Given the description of an element on the screen output the (x, y) to click on. 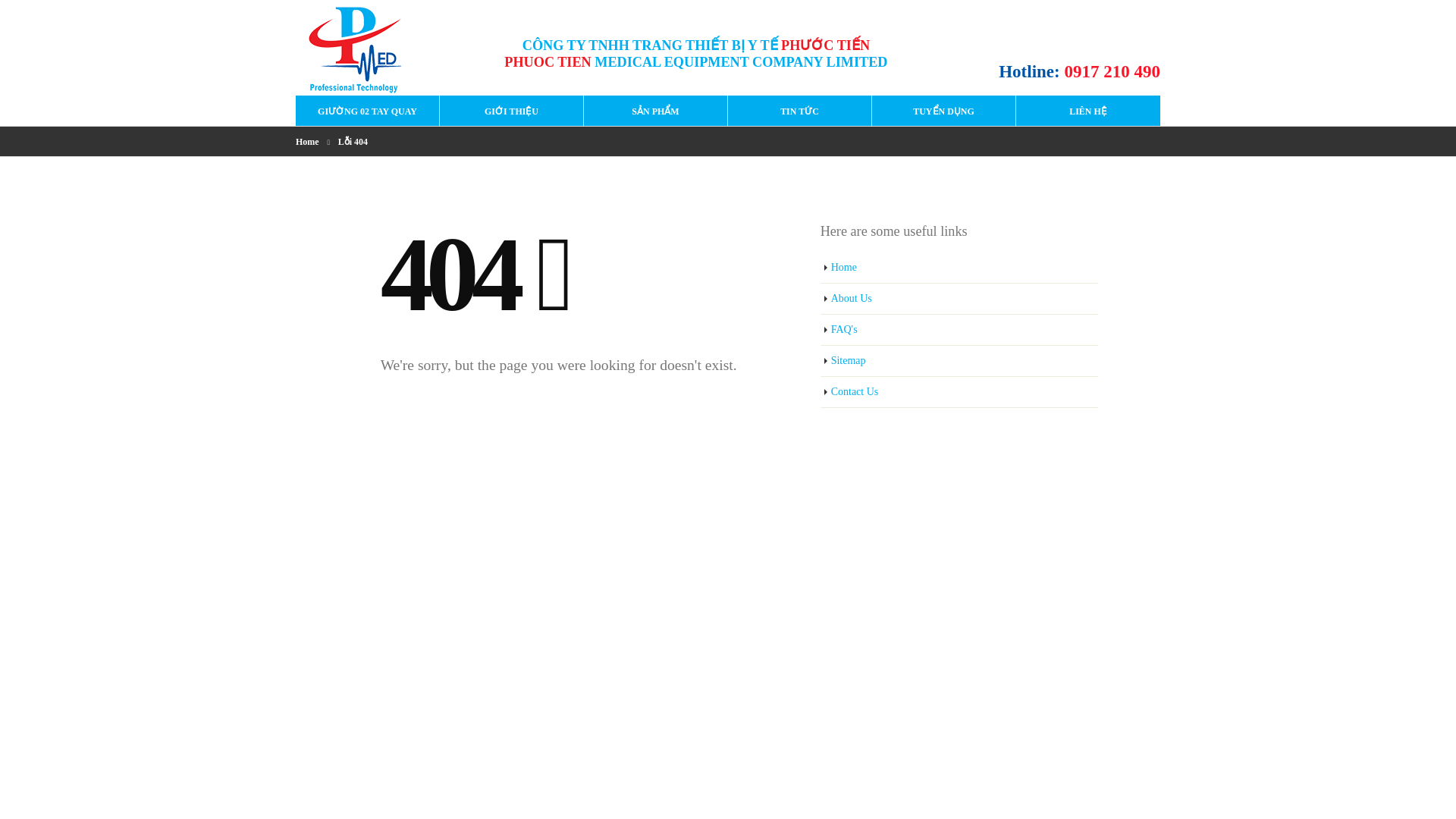
Home (306, 141)
Sitemap (960, 360)
FAQ's (960, 329)
About Us (960, 298)
Home (960, 267)
Contact Us (960, 391)
